Given the description of an element on the screen output the (x, y) to click on. 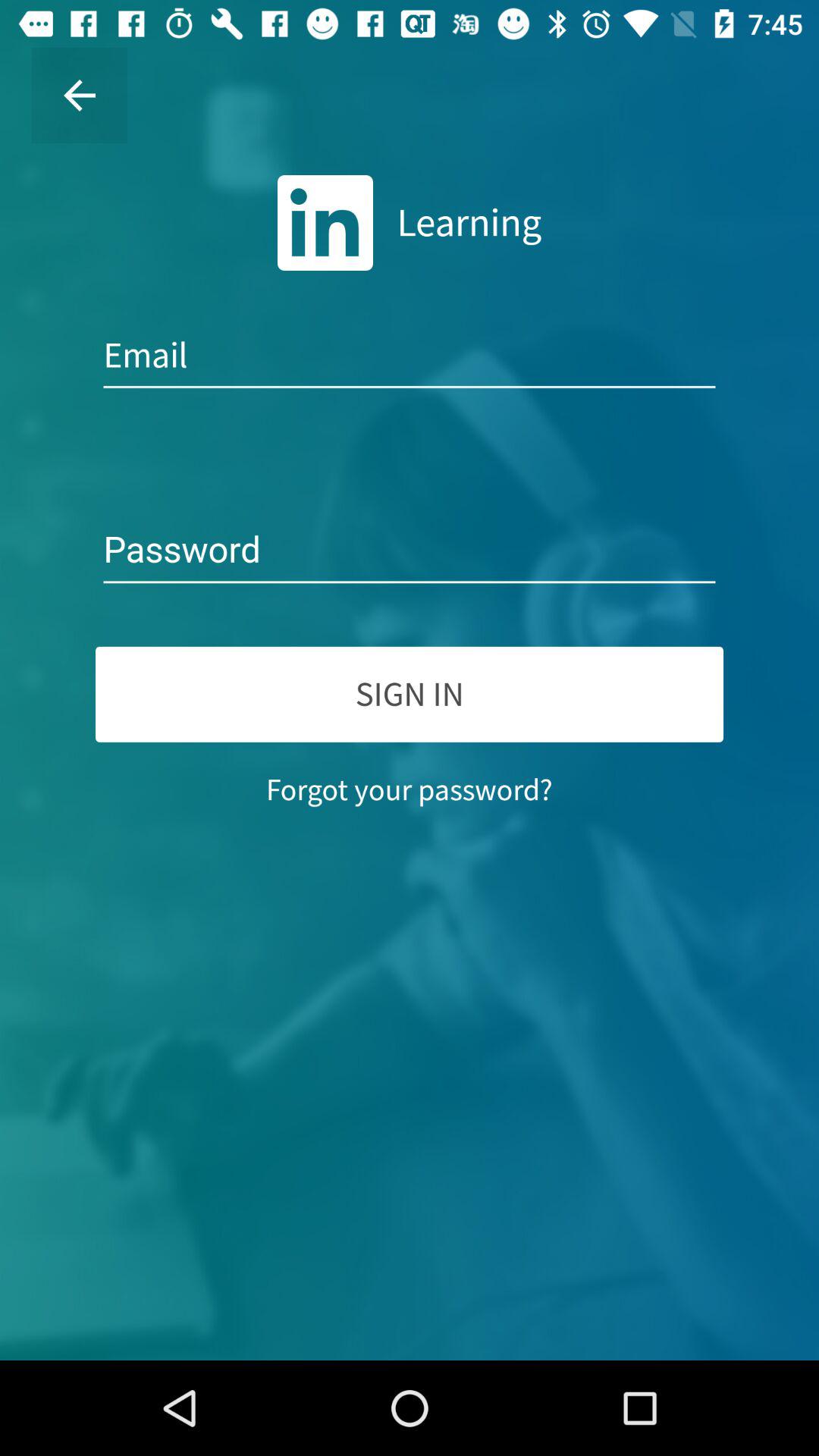
password (409, 550)
